Given the description of an element on the screen output the (x, y) to click on. 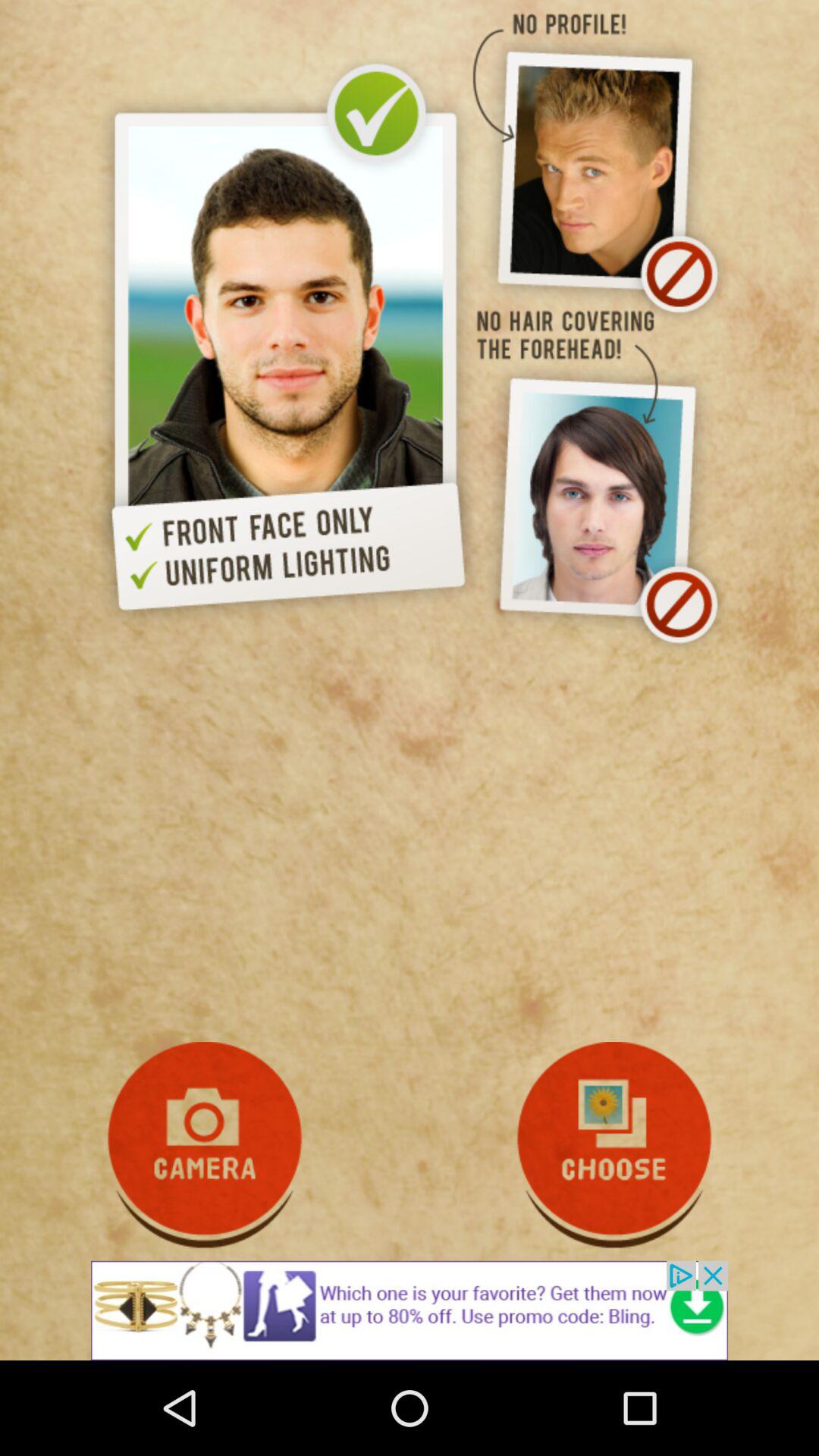
go to camera (204, 1144)
